Given the description of an element on the screen output the (x, y) to click on. 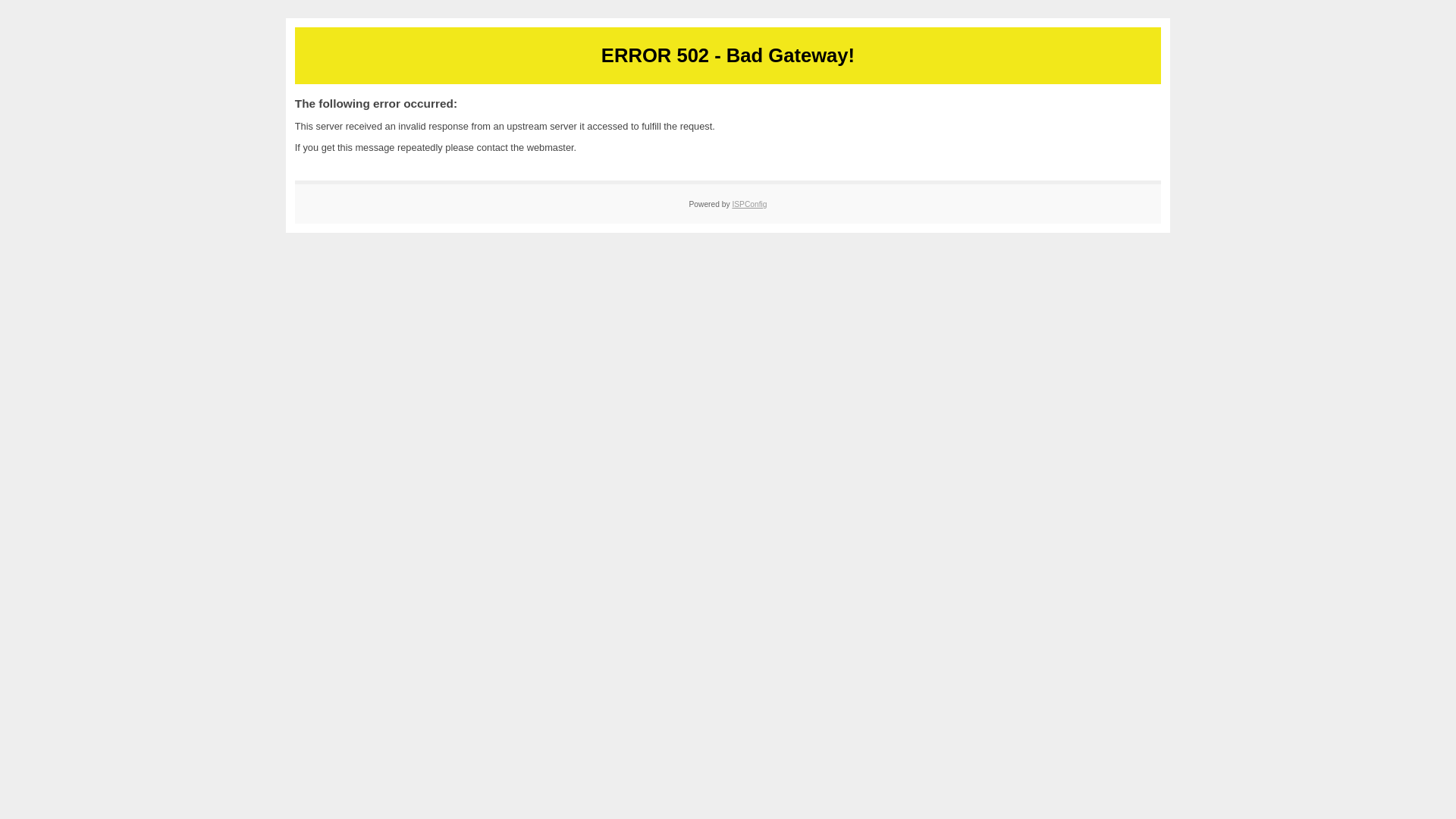
ISPConfig (749, 203)
